Given the description of an element on the screen output the (x, y) to click on. 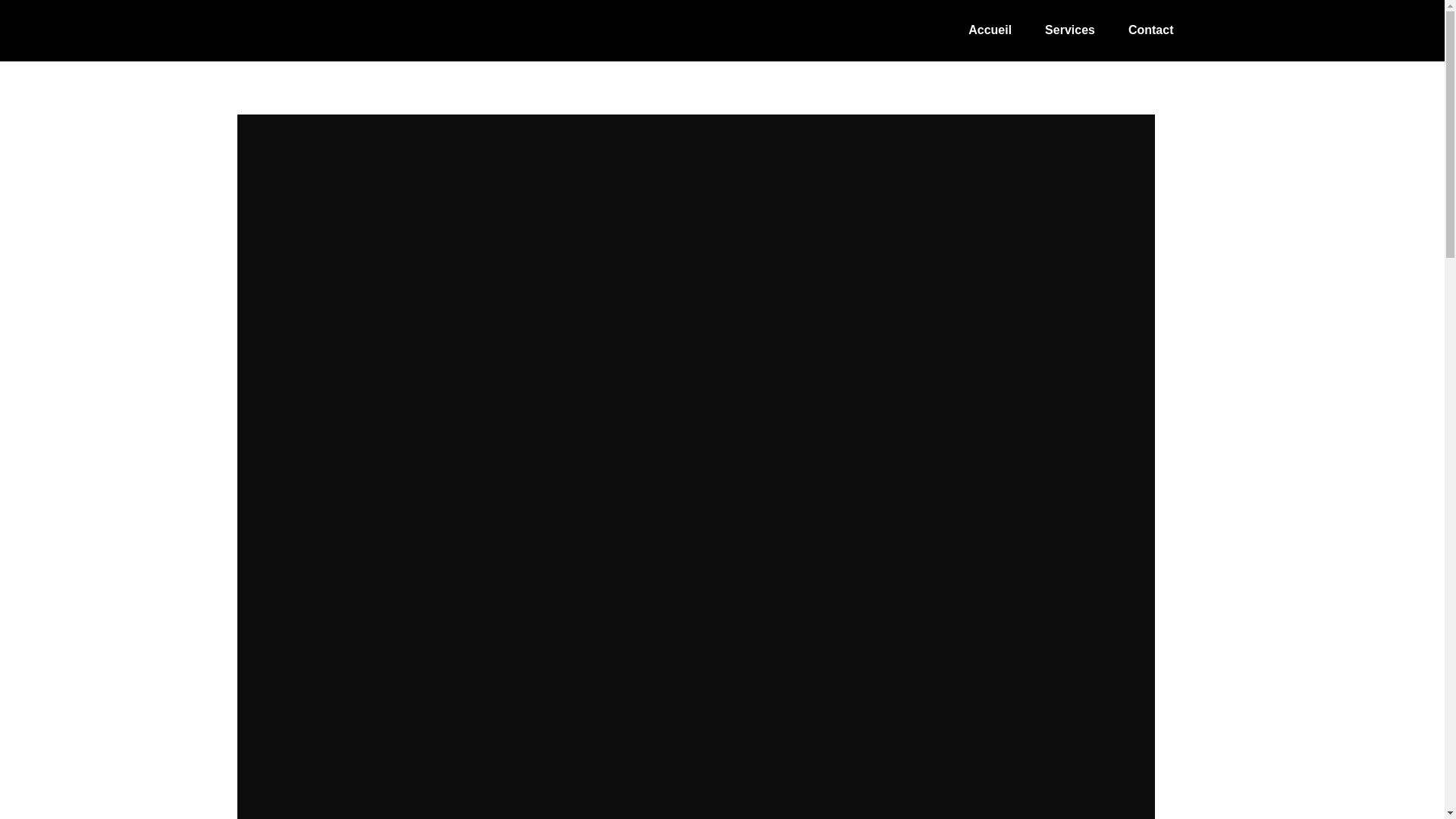
Accueil Element type: text (989, 29)
Contact Element type: text (1150, 29)
Services Element type: text (1069, 29)
